Given the description of an element on the screen output the (x, y) to click on. 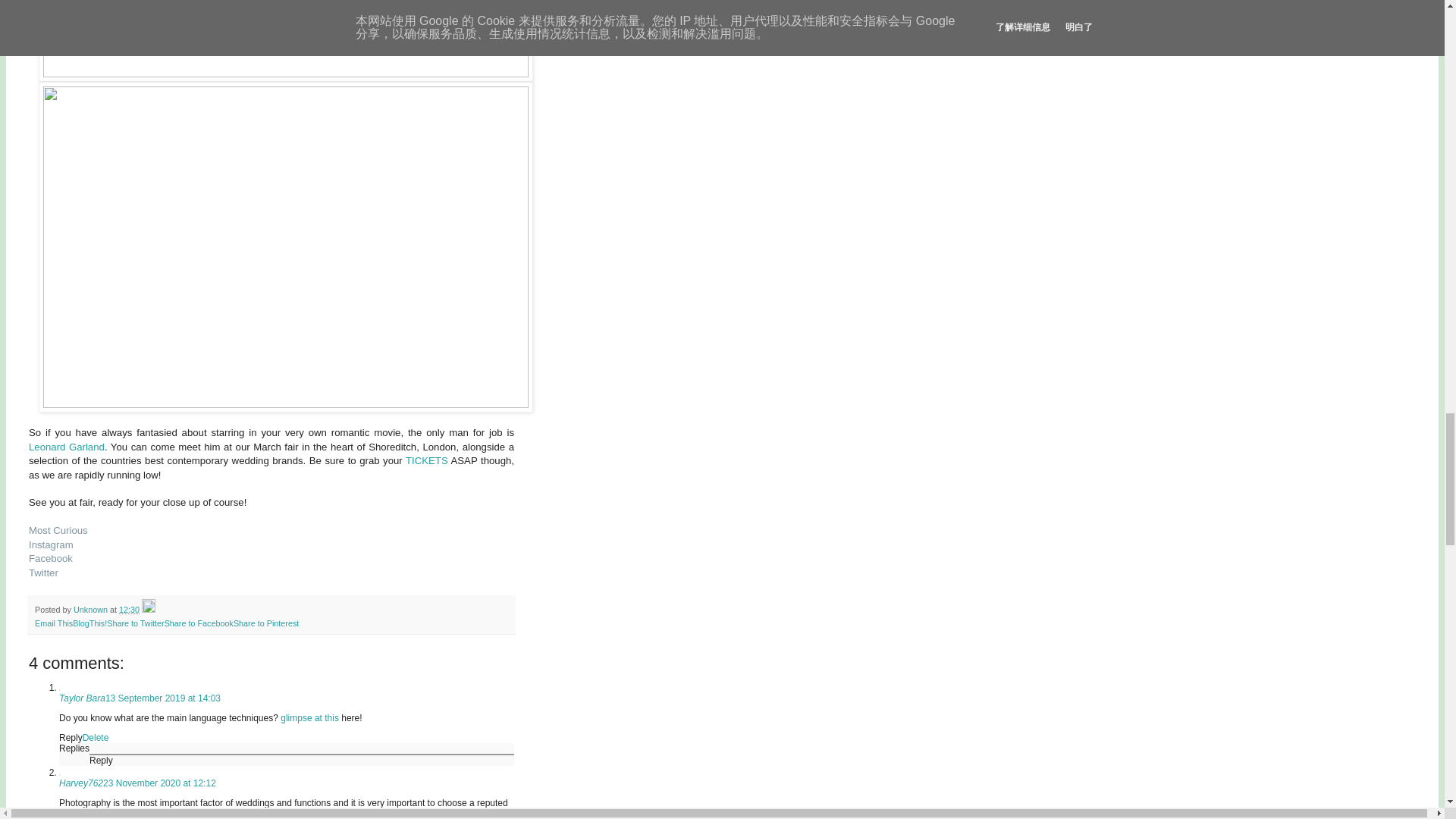
Replies (73, 747)
13 September 2019 at 14:03 (162, 697)
Instagram (51, 544)
Edit Post (148, 609)
12:30 (129, 609)
glimpse at this (310, 717)
BlogThis! (89, 623)
Reply (100, 760)
Share to Facebook (198, 623)
Delete (95, 737)
Email This (53, 623)
Twitter (43, 572)
Share to Pinterest (265, 623)
Leonard Garland (66, 446)
Harvey762 (81, 783)
